Given the description of an element on the screen output the (x, y) to click on. 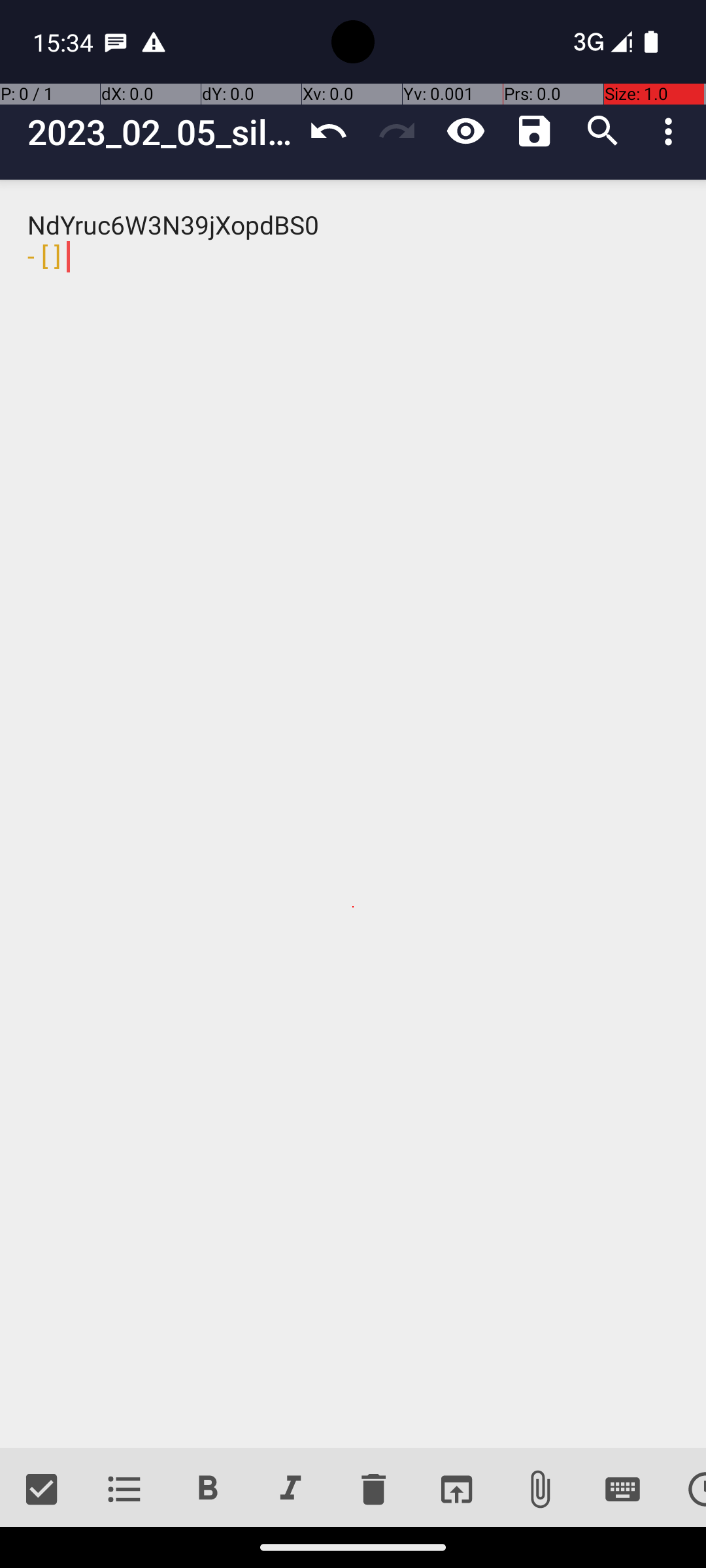
2023_02_05_silly_sun Element type: android.widget.TextView (160, 131)
NdYruc6W3N39jXopdBS0
- [ ]  Element type: android.widget.EditText (353, 813)
